Given the description of an element on the screen output the (x, y) to click on. 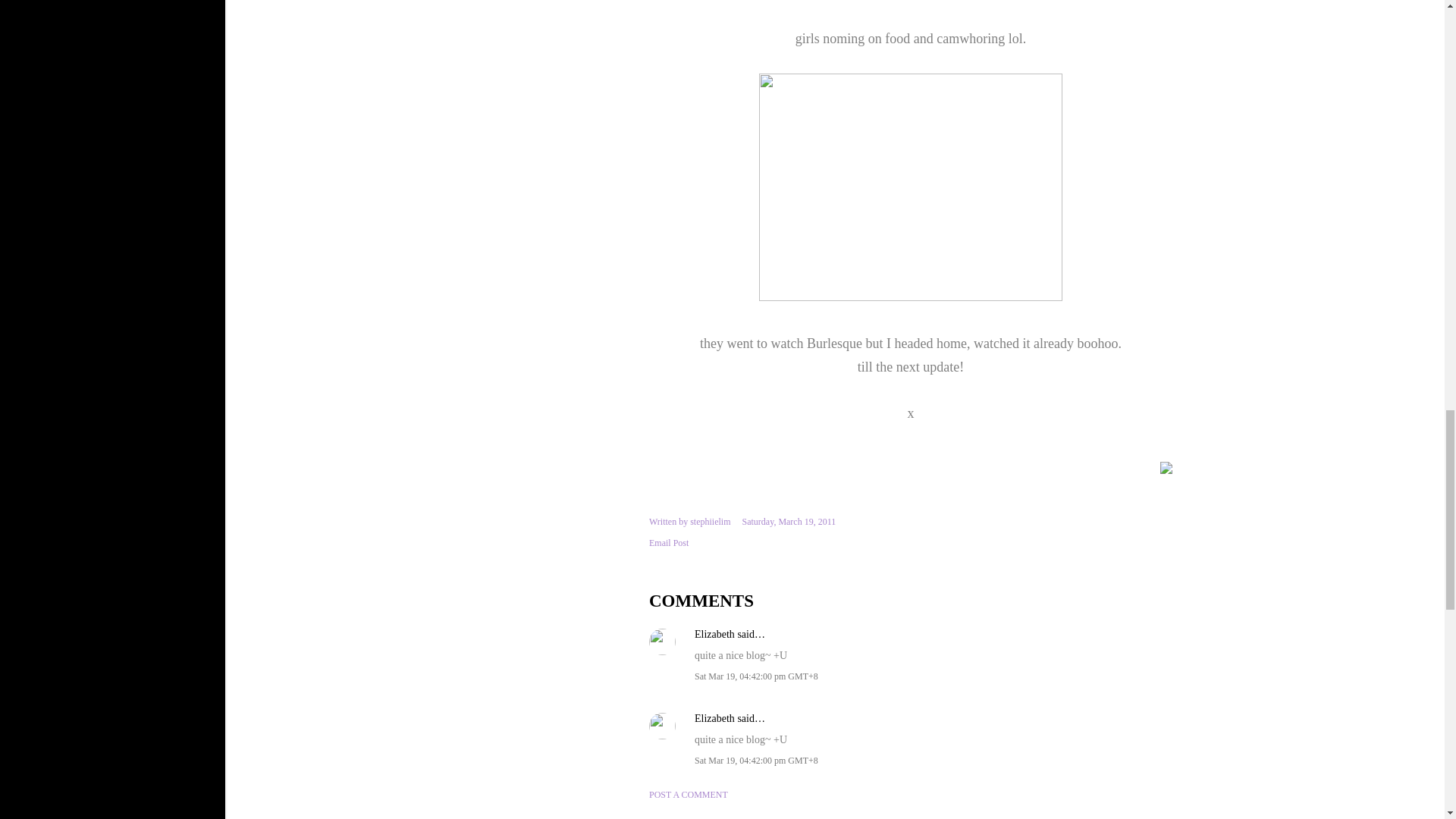
comment permalink (756, 675)
permanent link (788, 521)
Elizabeth (714, 717)
author profile (710, 521)
POST A COMMENT (688, 794)
Saturday, March 19, 2011 (788, 521)
Email Post (668, 543)
Elizabeth (714, 633)
stephiielim (710, 521)
